Given the description of an element on the screen output the (x, y) to click on. 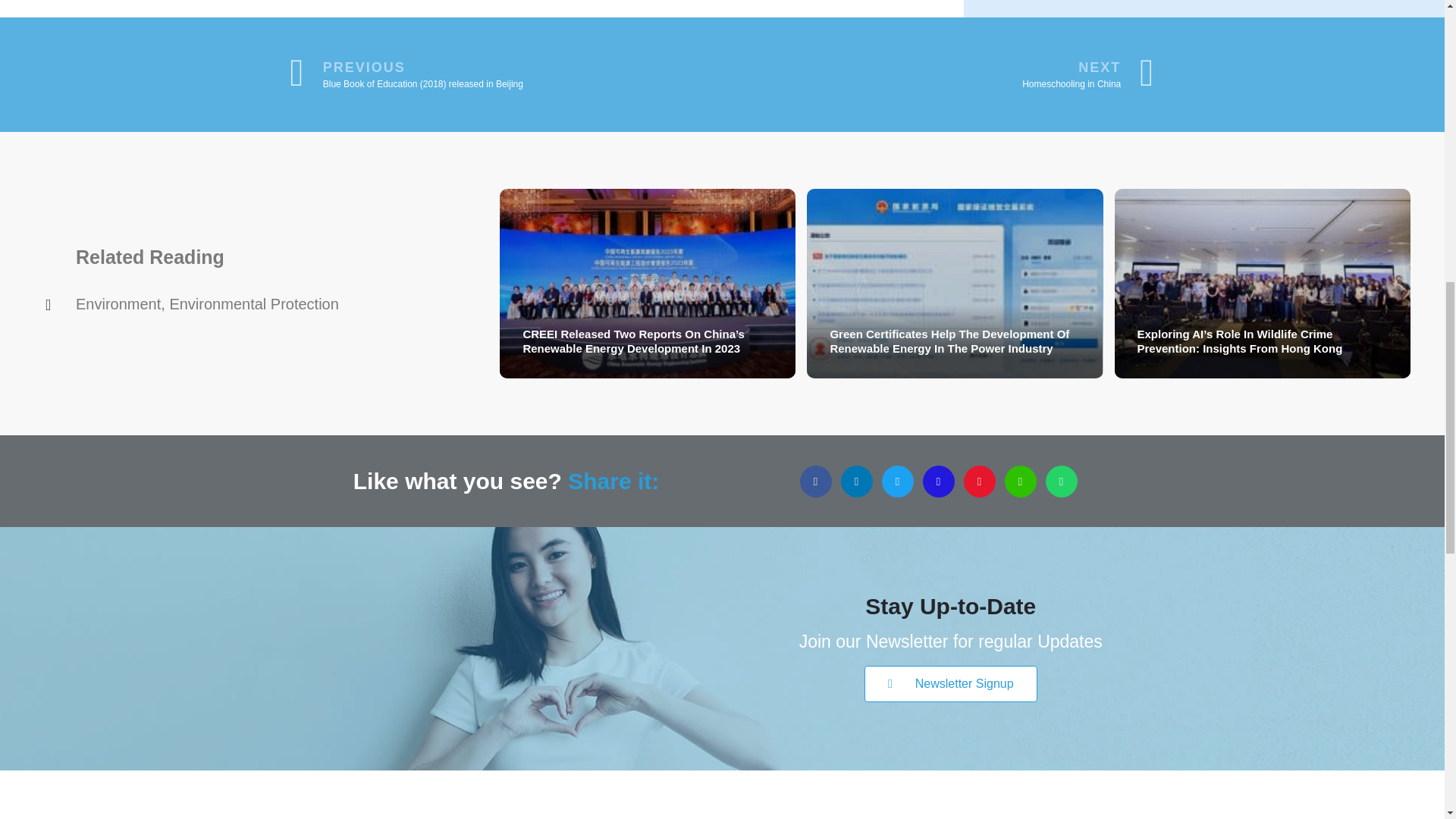
Environment (117, 303)
Environmental Protection (252, 303)
